Given the description of an element on the screen output the (x, y) to click on. 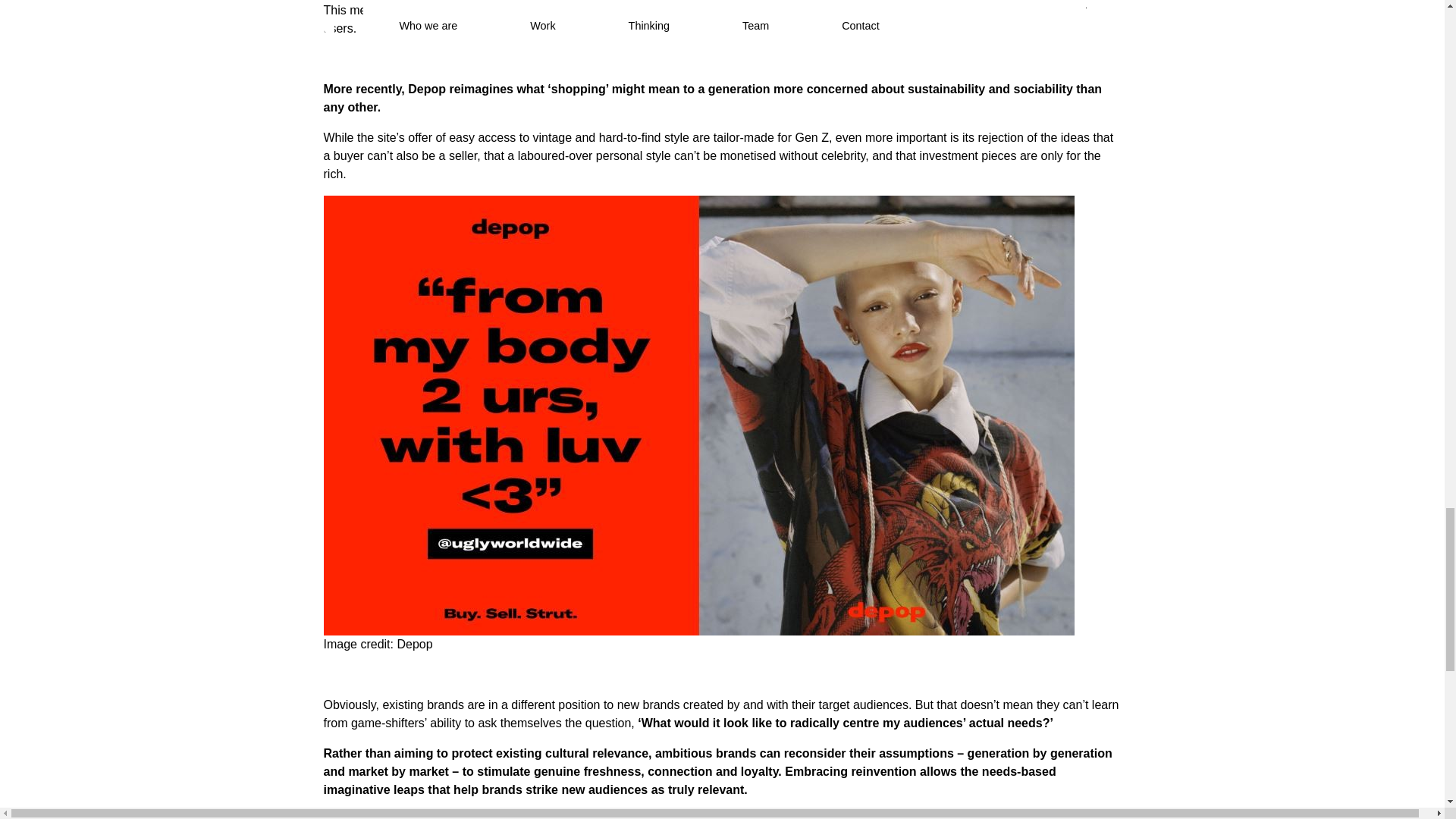
please get in touch. (954, 816)
